Given the description of an element on the screen output the (x, y) to click on. 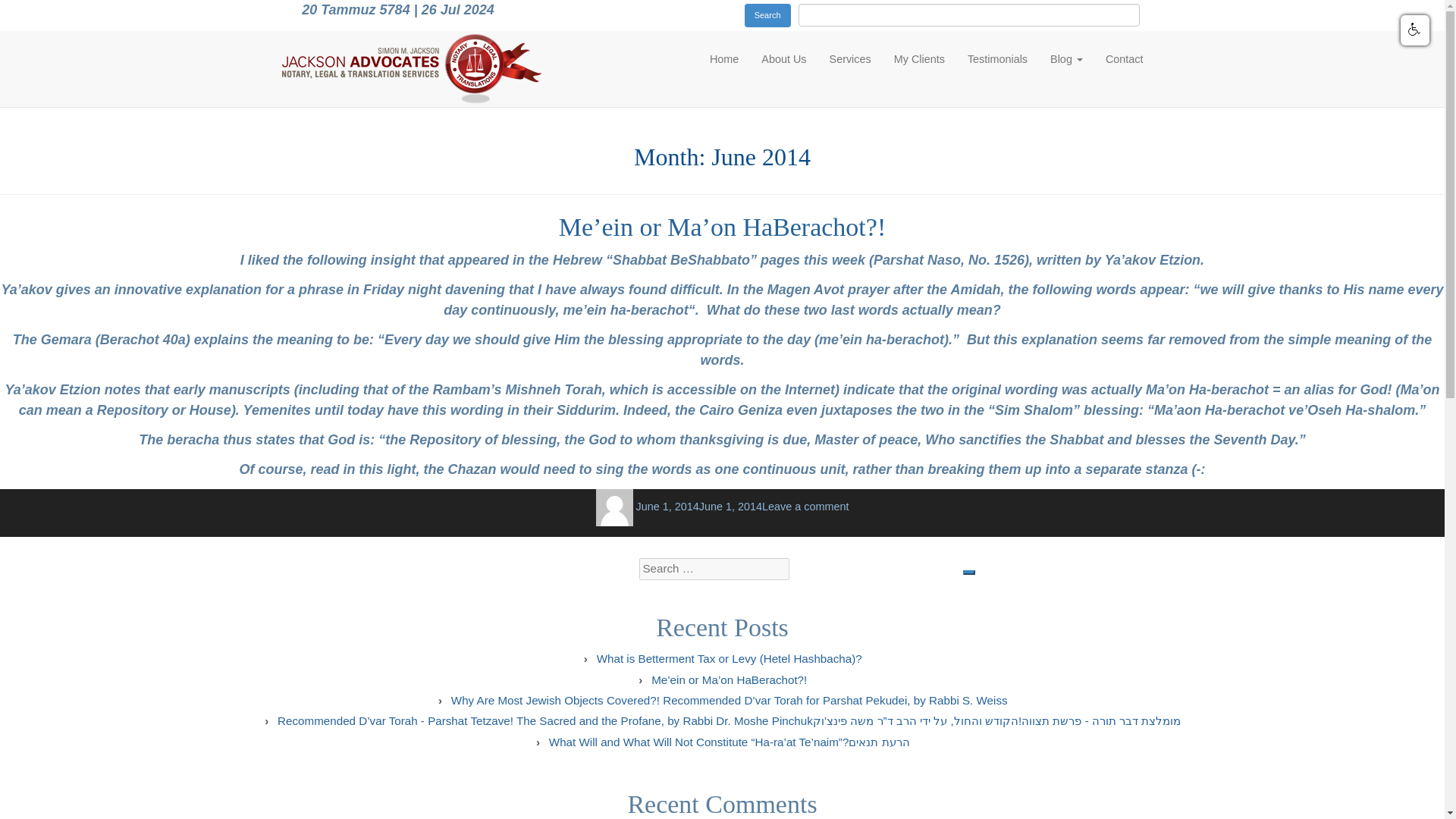
Search (767, 15)
Services (850, 58)
My Clients (919, 58)
Testimonials (997, 58)
Search for: (714, 568)
Contact (1124, 58)
June 1, 2014June 1, 2014 (698, 506)
Leave a comment (804, 506)
Blog (1066, 58)
About Us (782, 58)
Search (767, 15)
Home (723, 58)
